Given the description of an element on the screen output the (x, y) to click on. 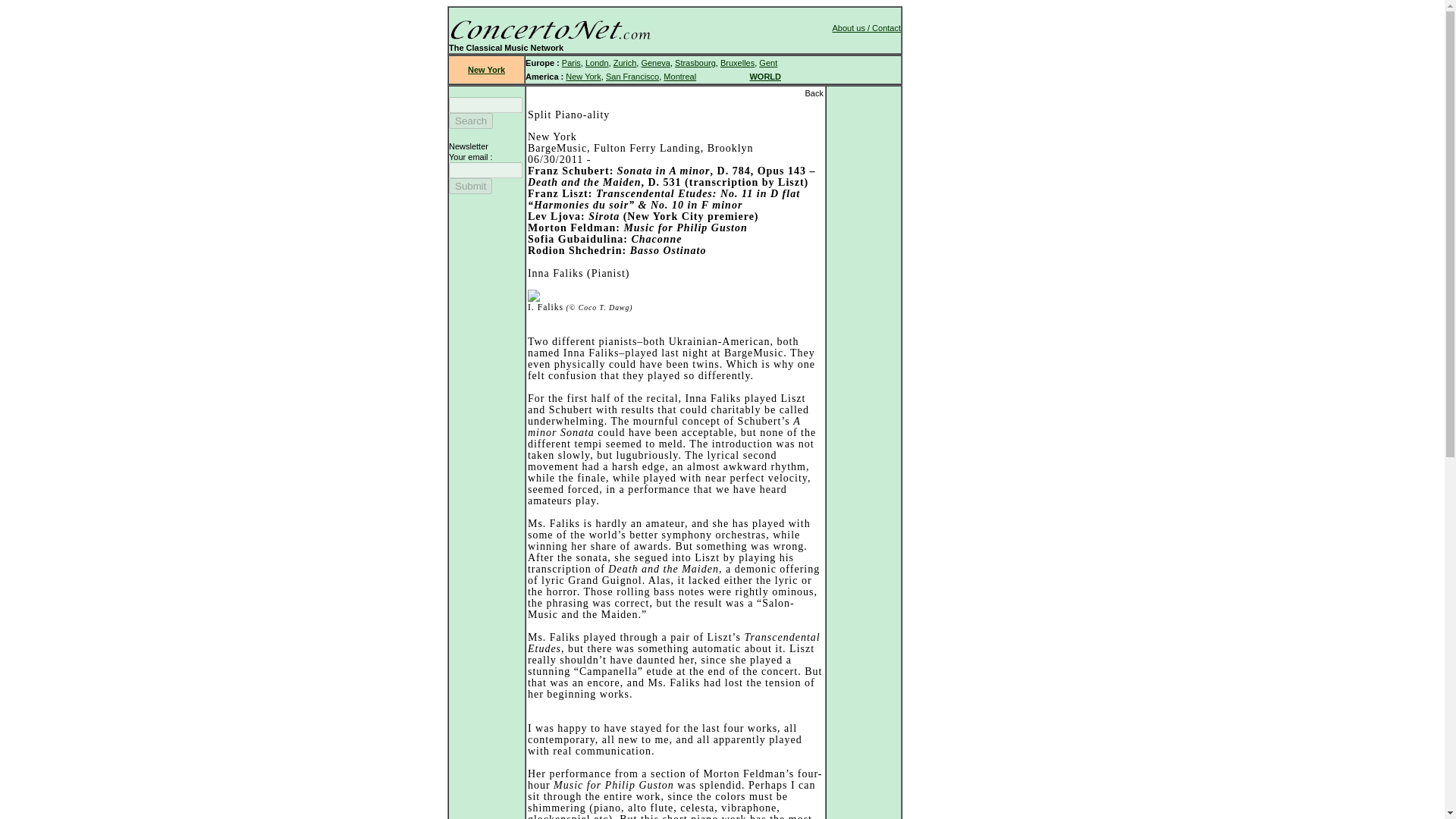
Bruxelles (737, 62)
New York (486, 69)
Search (470, 120)
Gent (767, 62)
New York (582, 76)
Strasbourg (695, 62)
Submit (470, 186)
Montreal (679, 76)
Submit (470, 186)
Londn (596, 62)
